Given the description of an element on the screen output the (x, y) to click on. 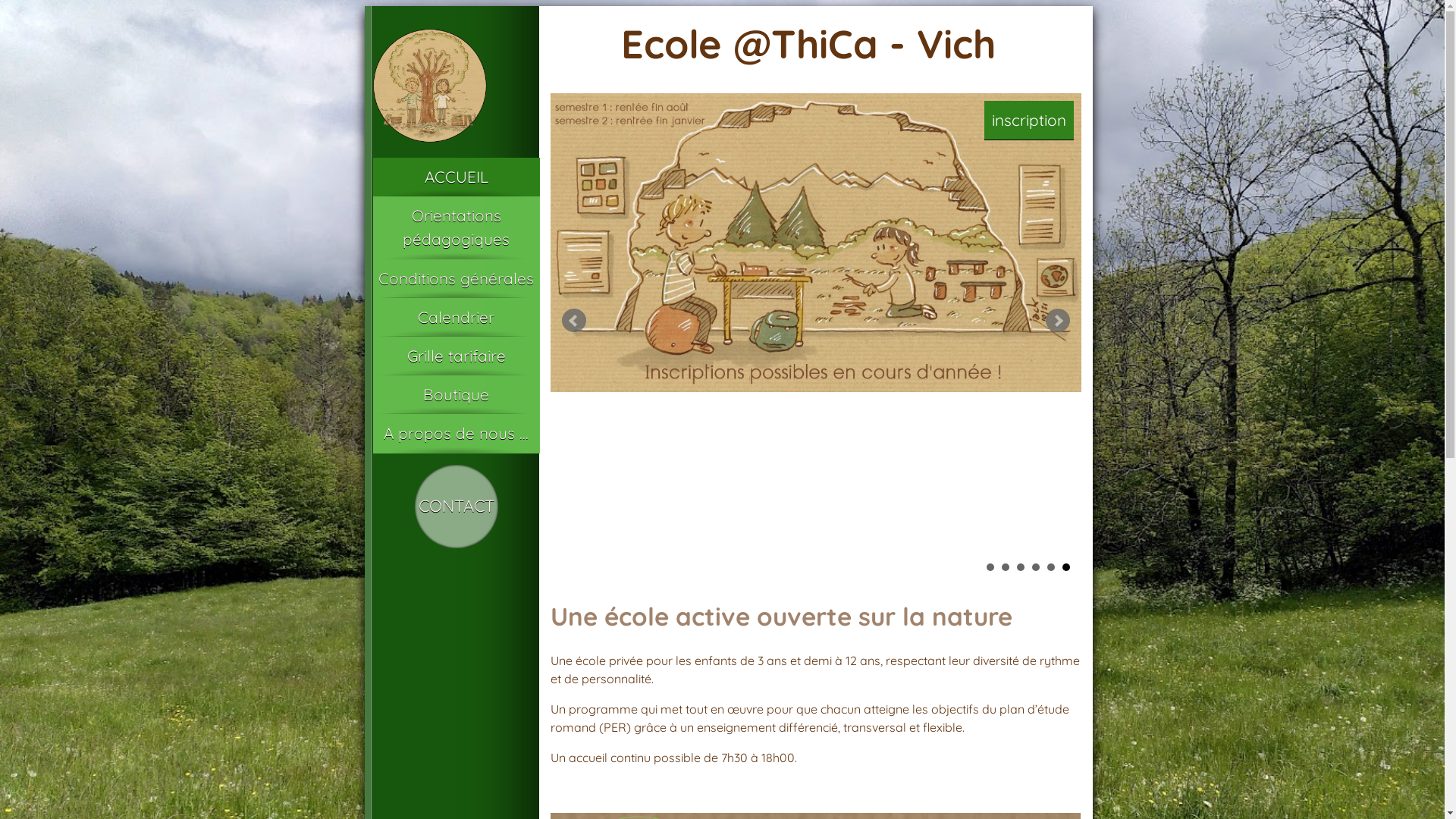
Calendrier Element type: text (456, 317)
CONTACT Element type: text (455, 505)
3 Element type: text (1019, 567)
6 Element type: text (1065, 567)
5 Element type: text (1050, 567)
ACCUEIL Element type: text (456, 176)
A propos de nous ... Element type: text (456, 433)
4 Element type: text (1034, 567)
Boutique Element type: text (456, 394)
inscription Element type: text (1028, 119)
2 Element type: text (1004, 567)
1 Element type: text (989, 567)
Grille tarifaire Element type: text (456, 355)
